Given the description of an element on the screen output the (x, y) to click on. 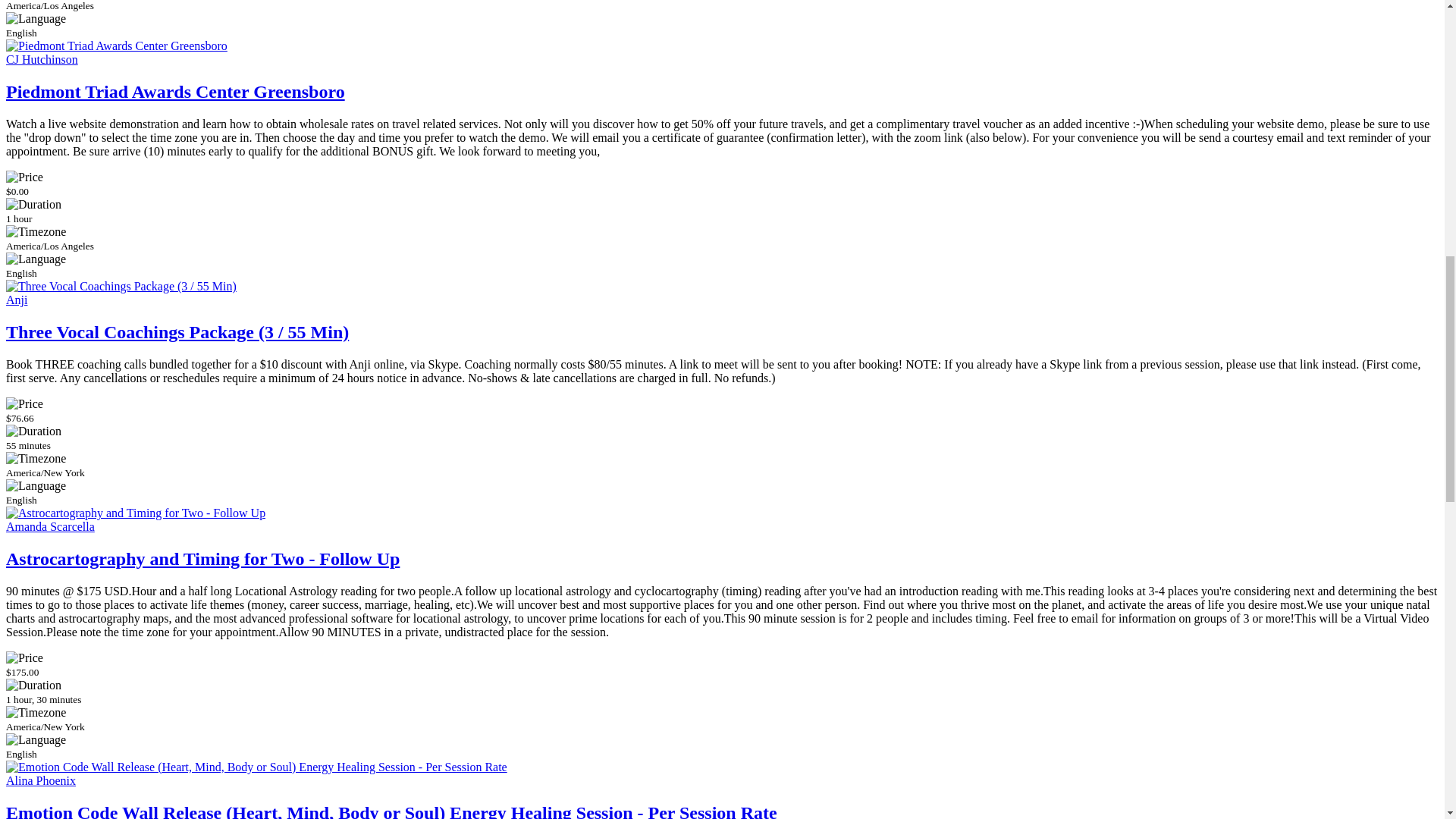
Piedmont Triad Awards Center Greensboro (175, 91)
Astrocartography and Timing for Two - Follow Up (201, 558)
